Given the description of an element on the screen output the (x, y) to click on. 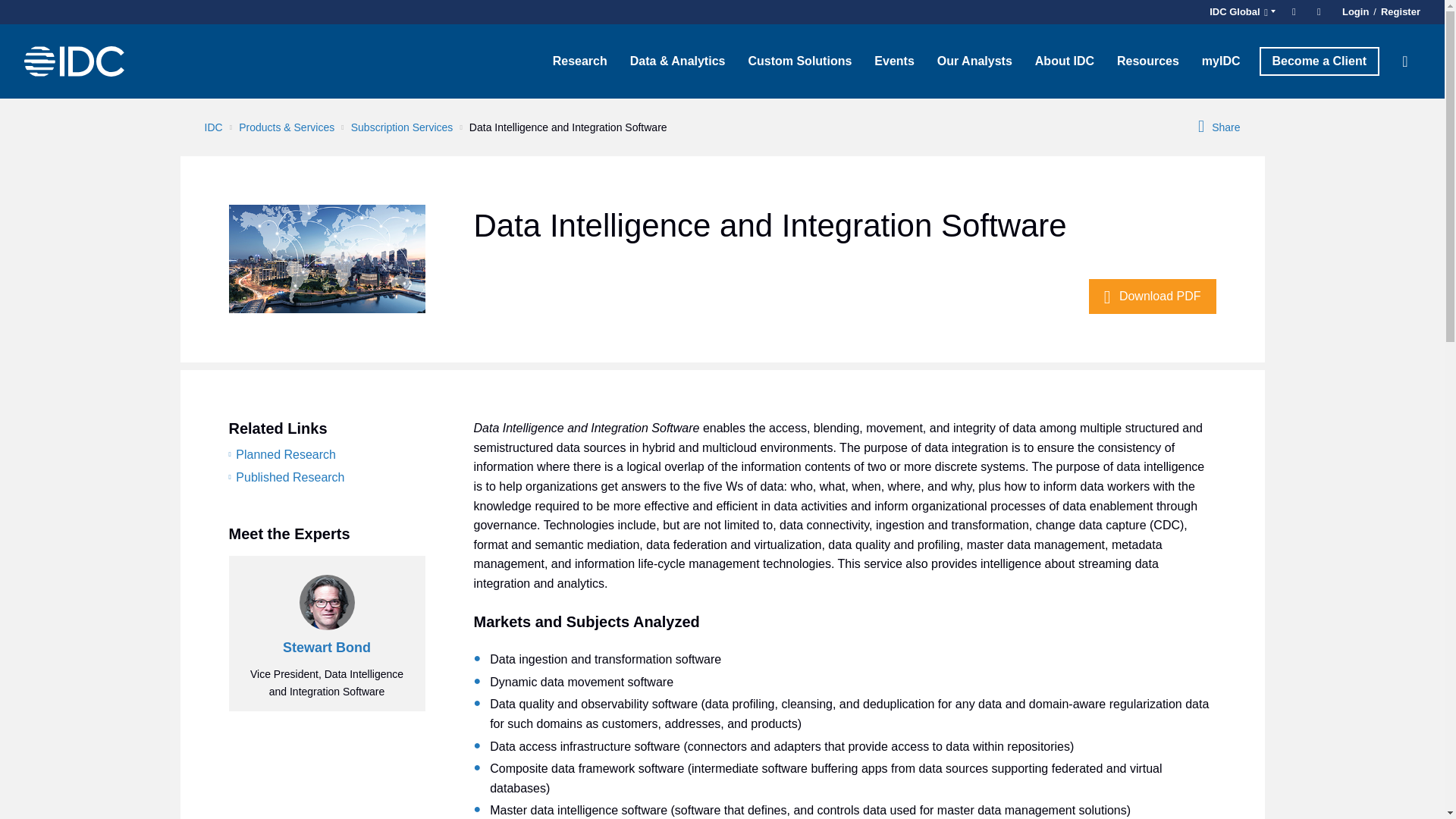
Research (579, 60)
Resources (1148, 60)
Register (1398, 12)
myIDC (1221, 60)
About IDC (1064, 60)
Become a Client (1318, 60)
Custom Solutions (799, 60)
IDC Global (1240, 12)
Search (1405, 61)
Events (893, 60)
Login (1355, 12)
Our Analysts (974, 60)
